Given the description of an element on the screen output the (x, y) to click on. 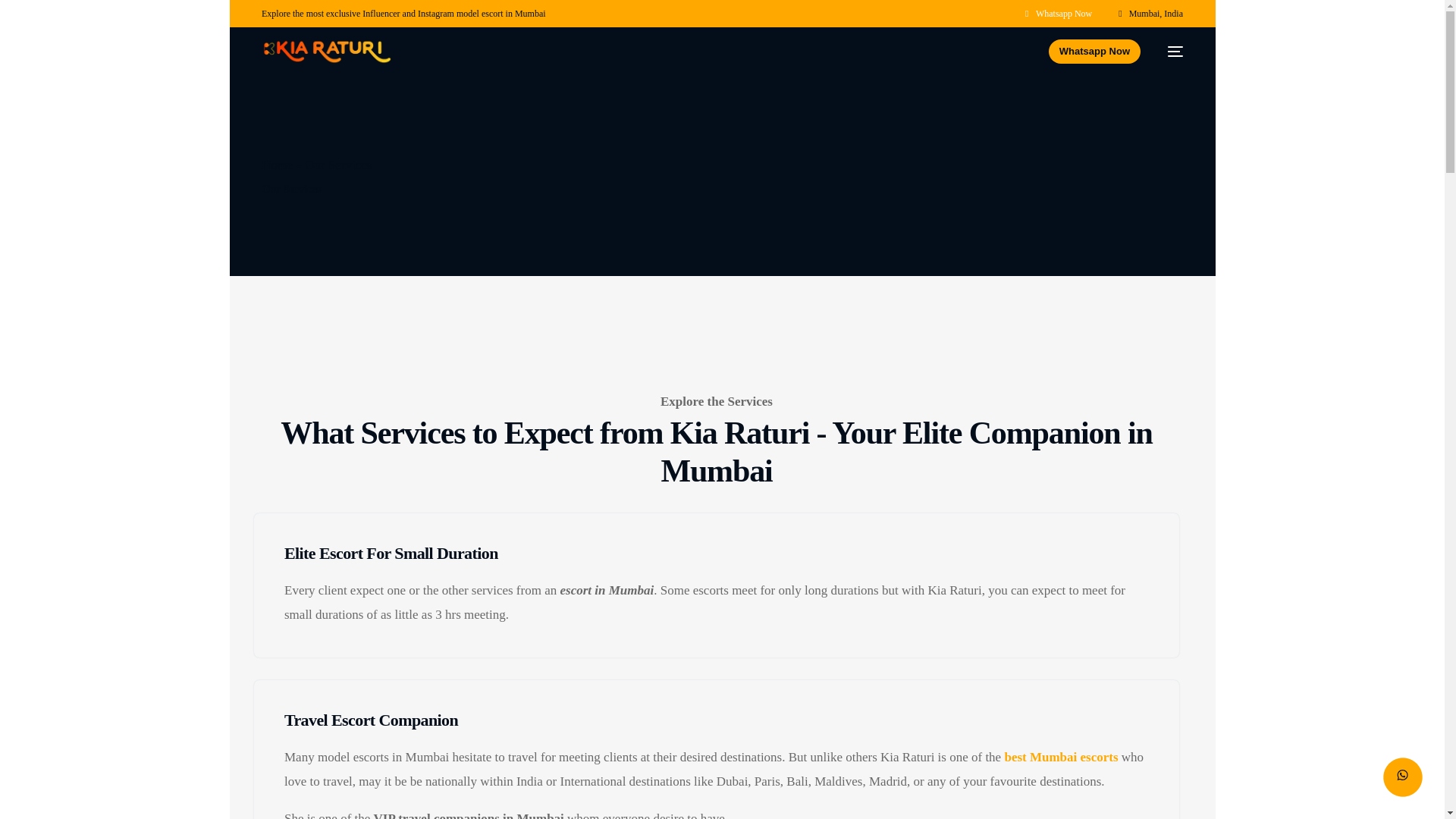
Need help? Contact us with your favorite way. (1403, 777)
best Mumbai escorts (1061, 757)
Whatsapp Now (1094, 51)
Home (278, 164)
  Whatsapp Now (1057, 13)
